Given the description of an element on the screen output the (x, y) to click on. 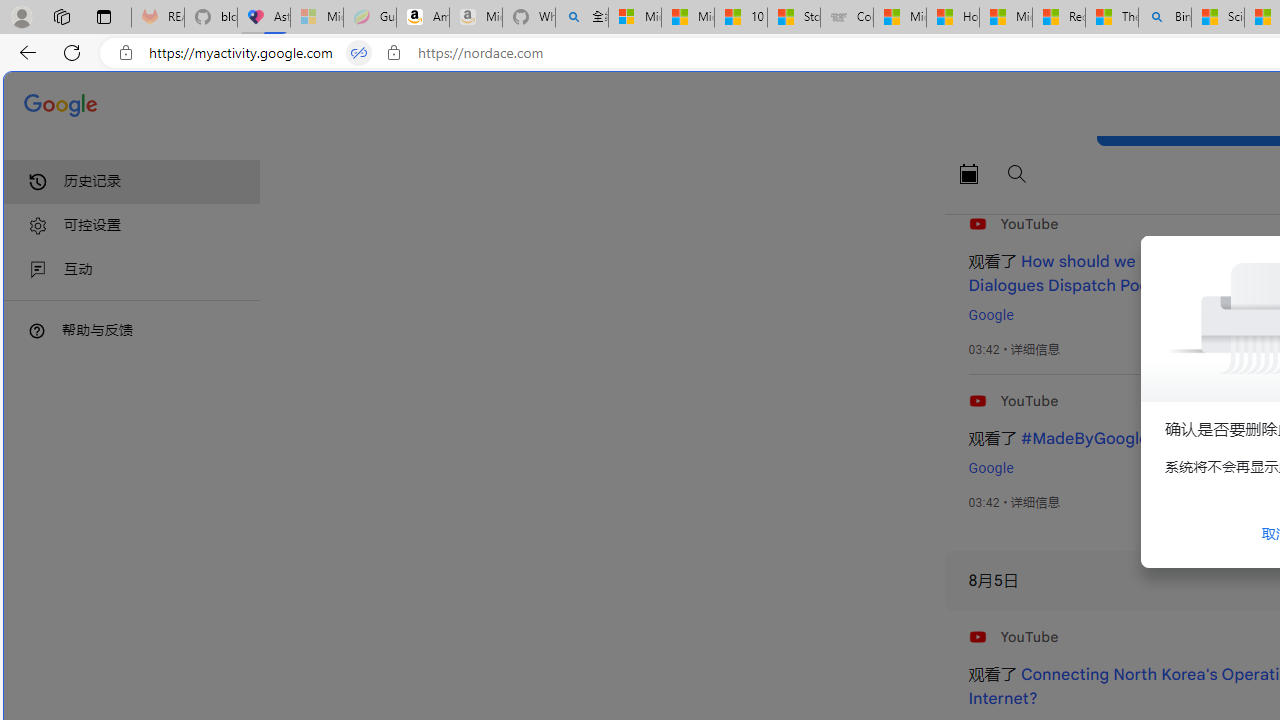
Microsoft-Report a Concern to Bing - Sleeping (316, 17)
Asthma Inhalers: Names and Types (264, 17)
Combat Siege (846, 17)
Class: i2GIId (38, 269)
